Given the description of an element on the screen output the (x, y) to click on. 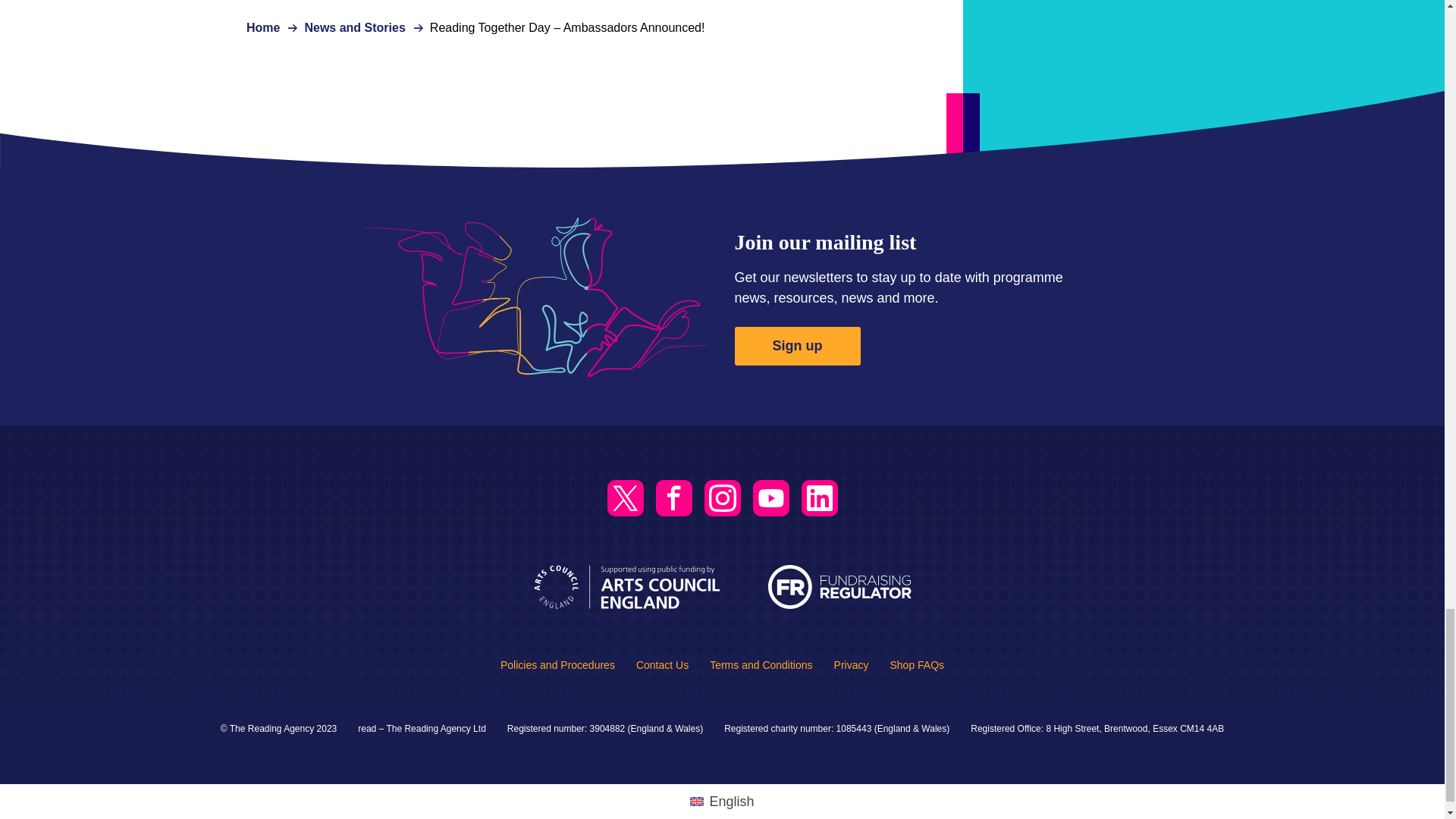
News and Stories (354, 27)
Policies and Procedures (557, 664)
Facebook (673, 497)
Privacy (851, 664)
Contact Us (662, 664)
Twitter (625, 497)
Terms and Conditions (761, 664)
YouTube (770, 497)
Home (262, 27)
LinedIn (818, 497)
Sign up (796, 345)
Instagram (721, 497)
Shop FAQs (916, 664)
